Given the description of an element on the screen output the (x, y) to click on. 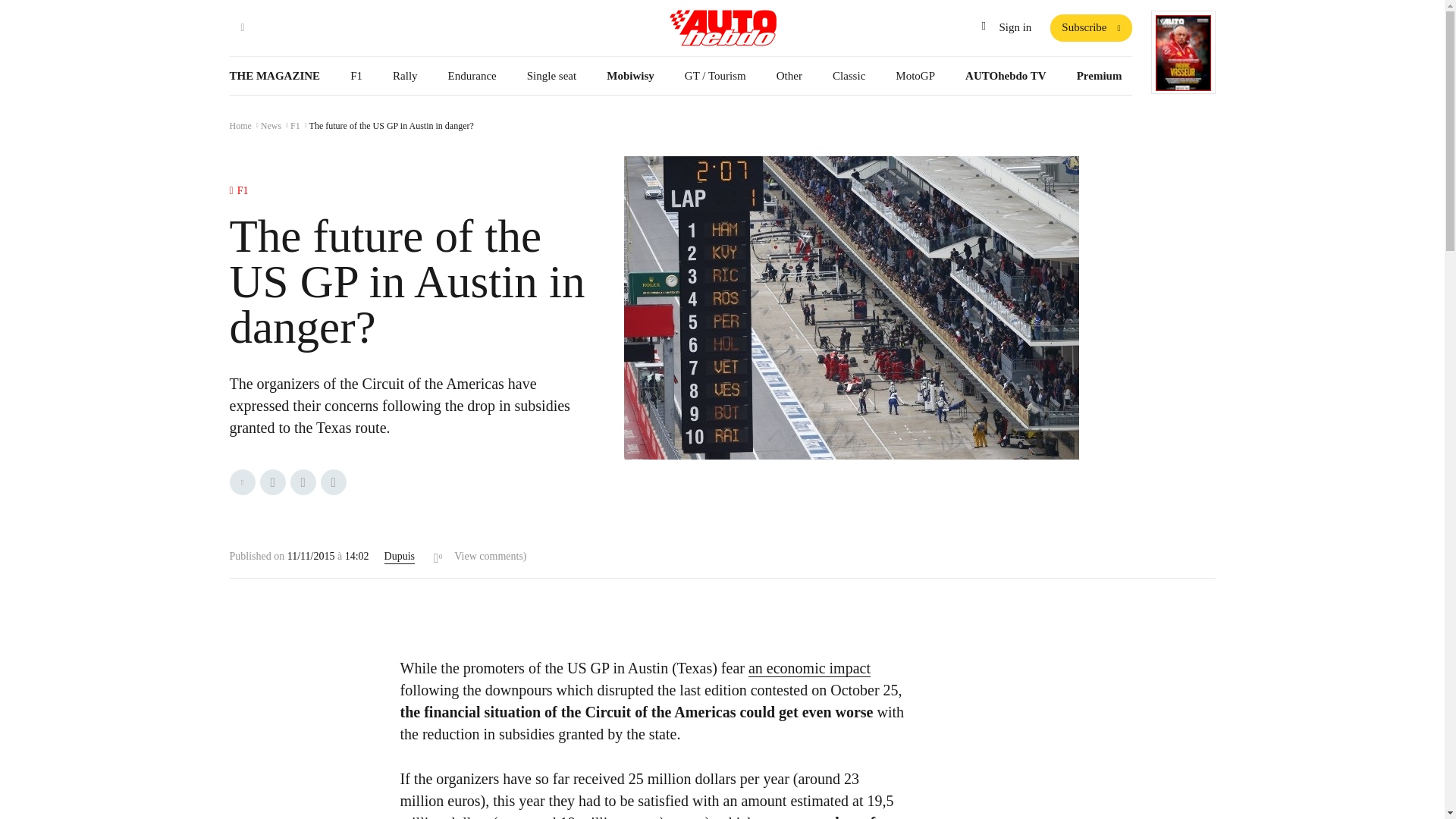
Mobiwisy (629, 75)
Single seat (551, 75)
Sign in (1005, 27)
Rally (405, 75)
Other (789, 75)
Subscribe (1090, 27)
THE MAGAZINE (279, 75)
Go to News. (274, 126)
Copy (333, 482)
Go to AutoHebdo. (242, 126)
